Given the description of an element on the screen output the (x, y) to click on. 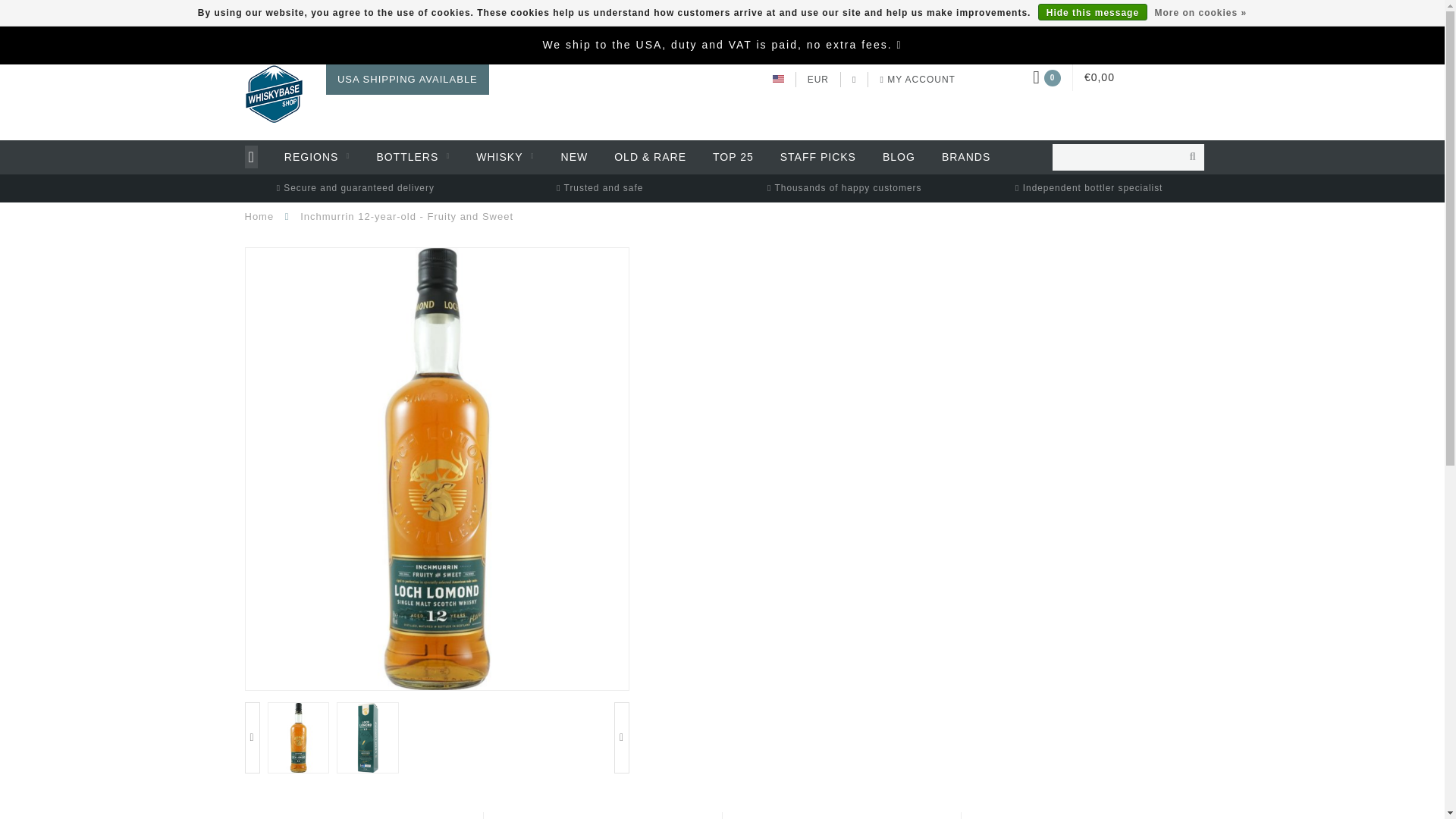
Home (258, 215)
MY ACCOUNT (917, 79)
More on cookies (1200, 13)
REGIONS (316, 157)
Hide this message (1092, 12)
We ship to the USA, duty and VAT is paid, no extra fees. (716, 44)
EUR (818, 79)
